Given the description of an element on the screen output the (x, y) to click on. 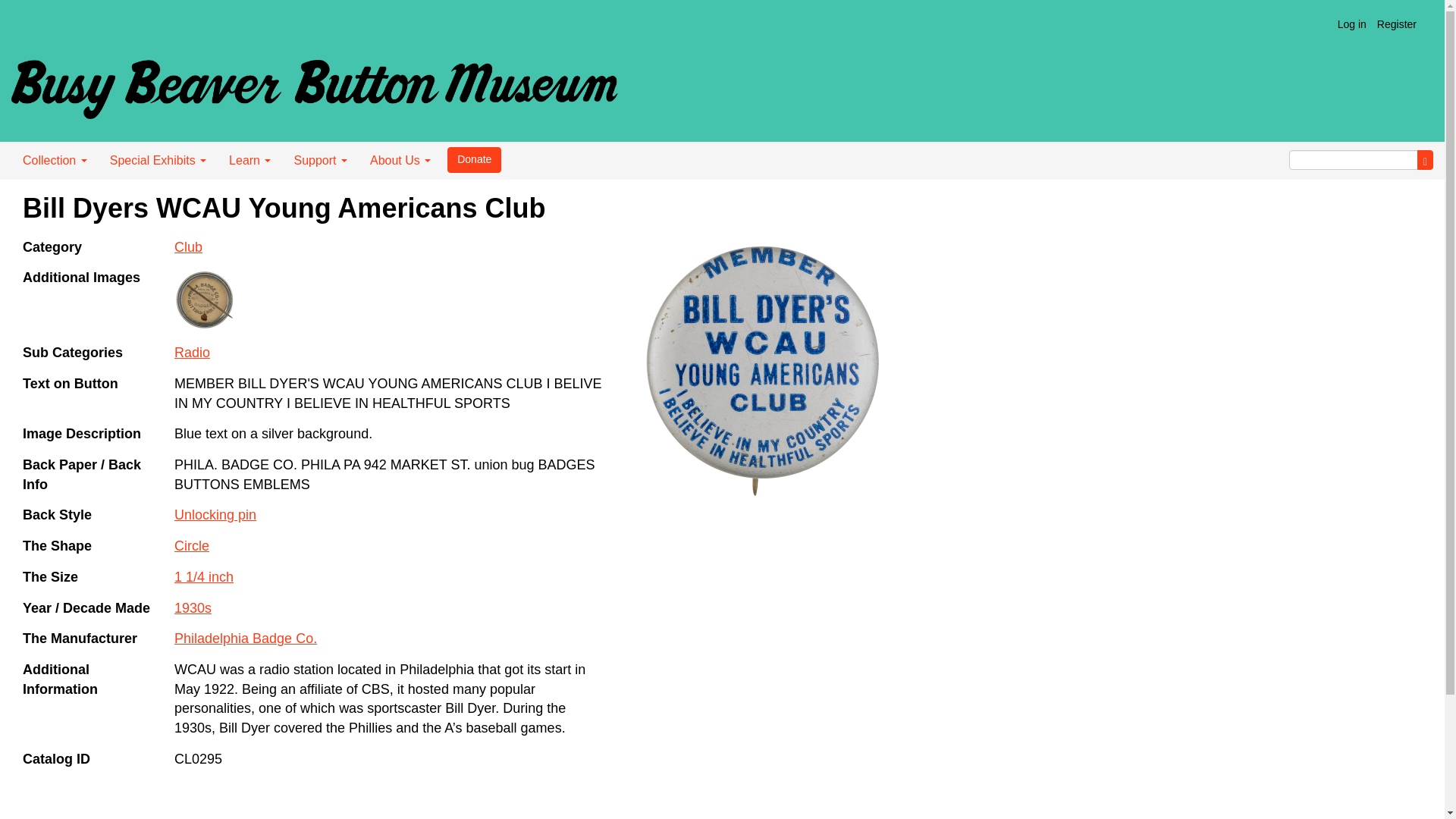
Collection (55, 160)
Donate (473, 159)
Philadelphia Badge Co. (245, 638)
Learn (249, 160)
Support (320, 160)
Home (314, 83)
Register (1396, 23)
Bill Dyers WCAU Young Americans Club (761, 370)
Club (188, 246)
